Given the description of an element on the screen output the (x, y) to click on. 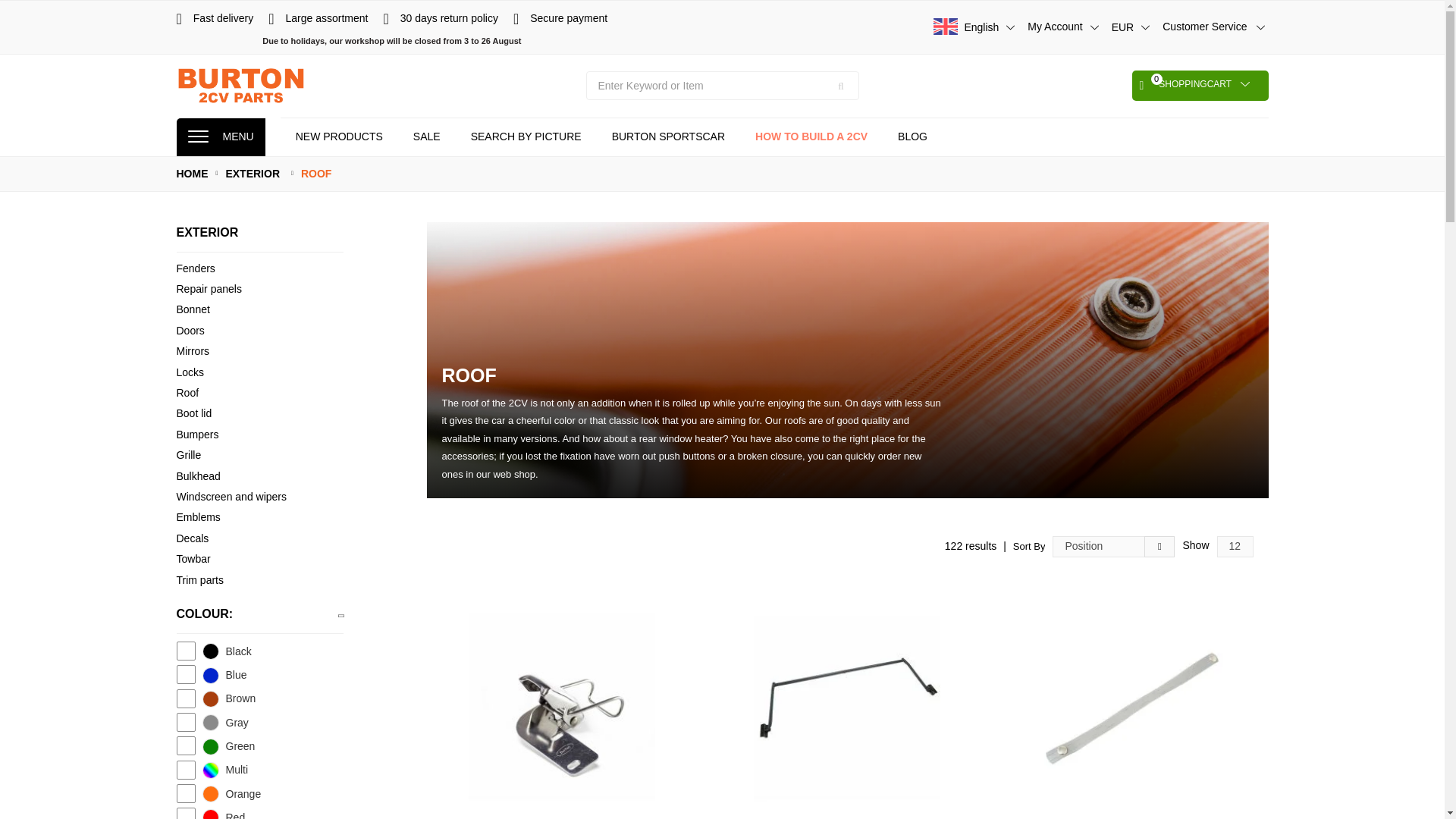
HOW TO BUILD A 2CV (810, 136)
SEARCH BY PICTURE (1199, 85)
BURTON SPORTSCAR (1064, 26)
NEW PRODUCTS (525, 136)
BLOG (667, 136)
SALE (339, 136)
Search (912, 136)
Set Ascending Direction (426, 136)
